Given the description of an element on the screen output the (x, y) to click on. 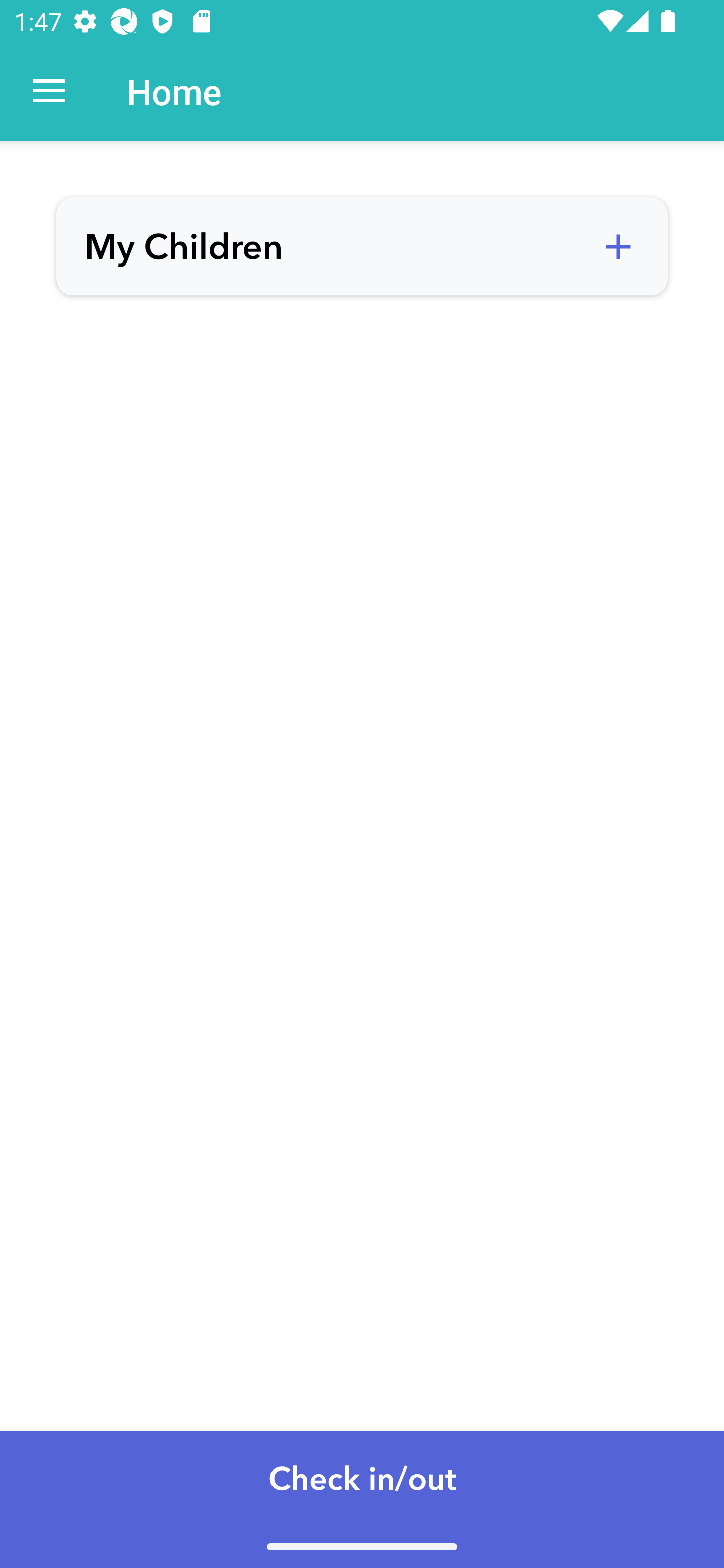
Open navigation drawer (49, 91)
Add a Child (618, 246)
Check in/out (362, 1499)
